Given the description of an element on the screen output the (x, y) to click on. 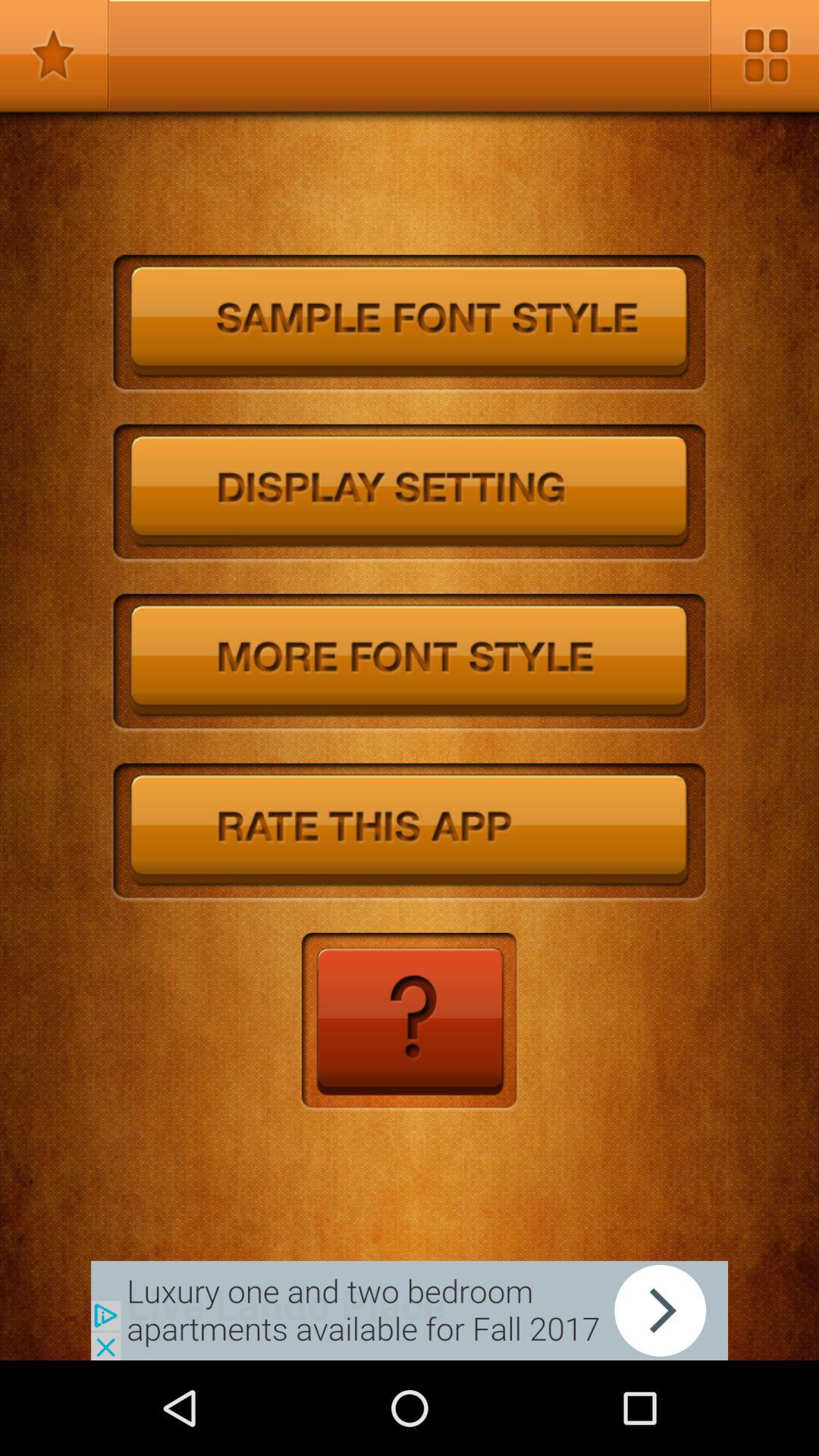
select the rate this app (409, 832)
